Given the description of an element on the screen output the (x, y) to click on. 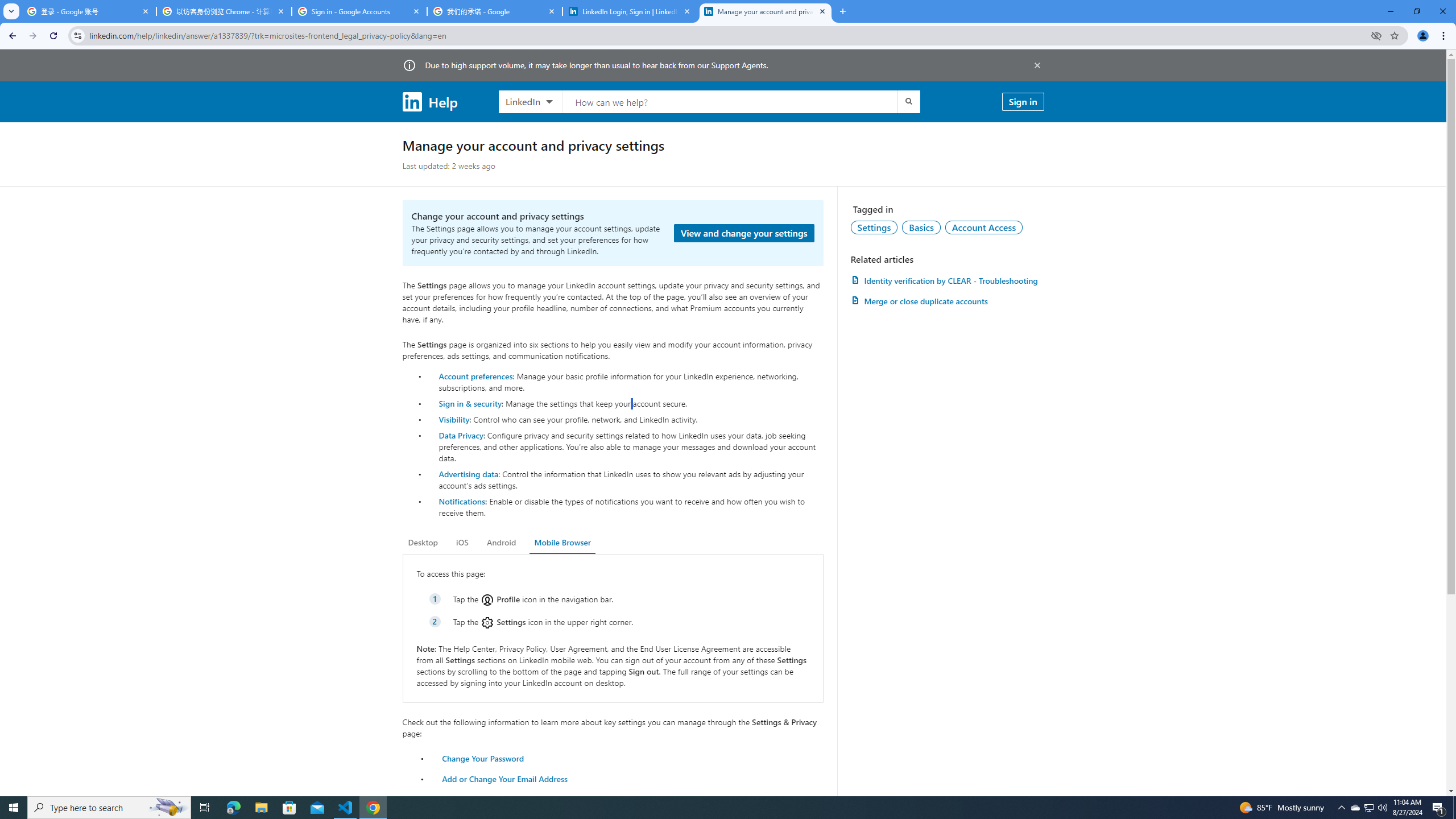
Manage your account and privacy settings | LinkedIn Help (765, 11)
Change Your Password (483, 758)
Account preferences (475, 375)
LinkedIn Login, Sign in | LinkedIn (630, 11)
AutomationID: article-link-a1457505 (946, 280)
Add and Remove Mobile Phone Numbers (517, 799)
AutomationID: article-link-a1337200 (946, 300)
